Given the description of an element on the screen output the (x, y) to click on. 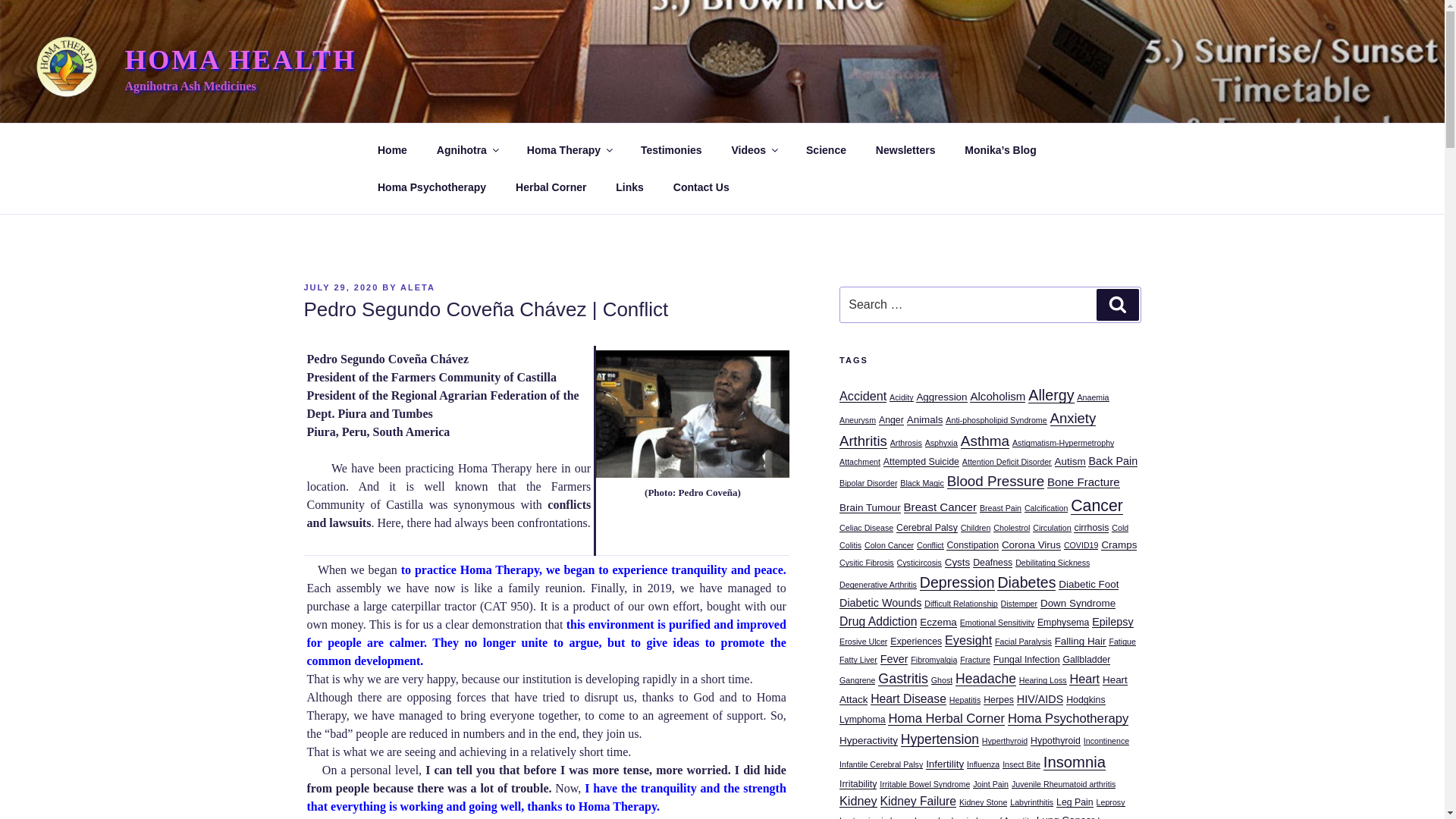
Accident (863, 395)
Science (826, 149)
Contact Us (700, 186)
Links (630, 186)
Homa Psychotherapy (431, 186)
ALETA (417, 286)
Alcoholism (997, 395)
Herbal Corner (550, 186)
Videos (753, 149)
Homa Therapy (568, 149)
Newsletters (905, 149)
Testimonies (670, 149)
Aggression (940, 396)
Home (392, 149)
Acidity (900, 397)
